Given the description of an element on the screen output the (x, y) to click on. 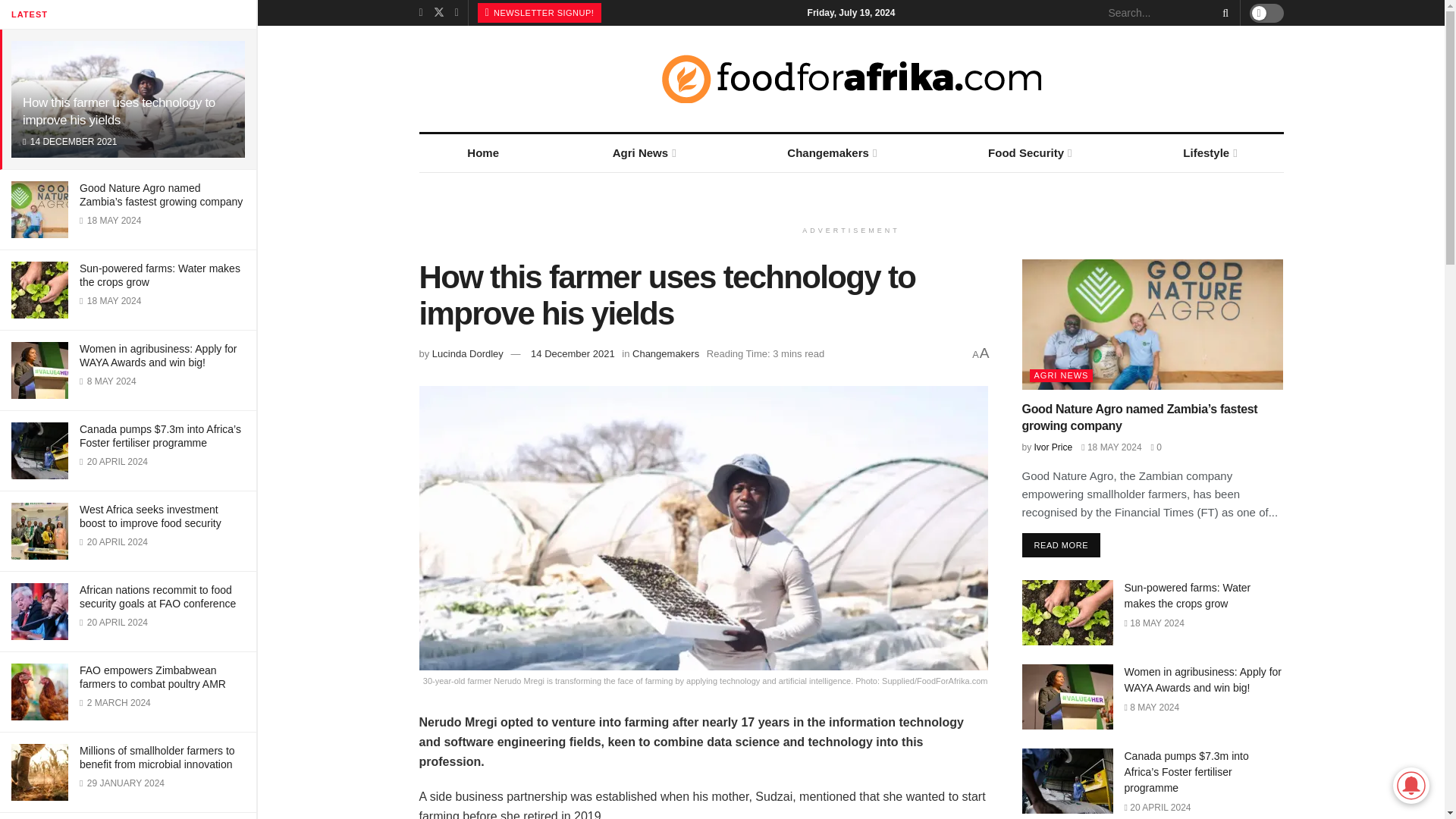
Agri News (643, 152)
NEWSLETTER SIGNUP! (539, 12)
How this farmer uses technology to improve his yields (119, 111)
Home (483, 152)
Sun-powered farms: Water makes the crops grow (160, 275)
Women in agribusiness: Apply for WAYA Awards and win big! (158, 355)
West Africa seeks investment boost to improve food security (150, 516)
FAO empowers Zimbabwean farmers to combat poultry AMR (152, 677)
